Given the description of an element on the screen output the (x, y) to click on. 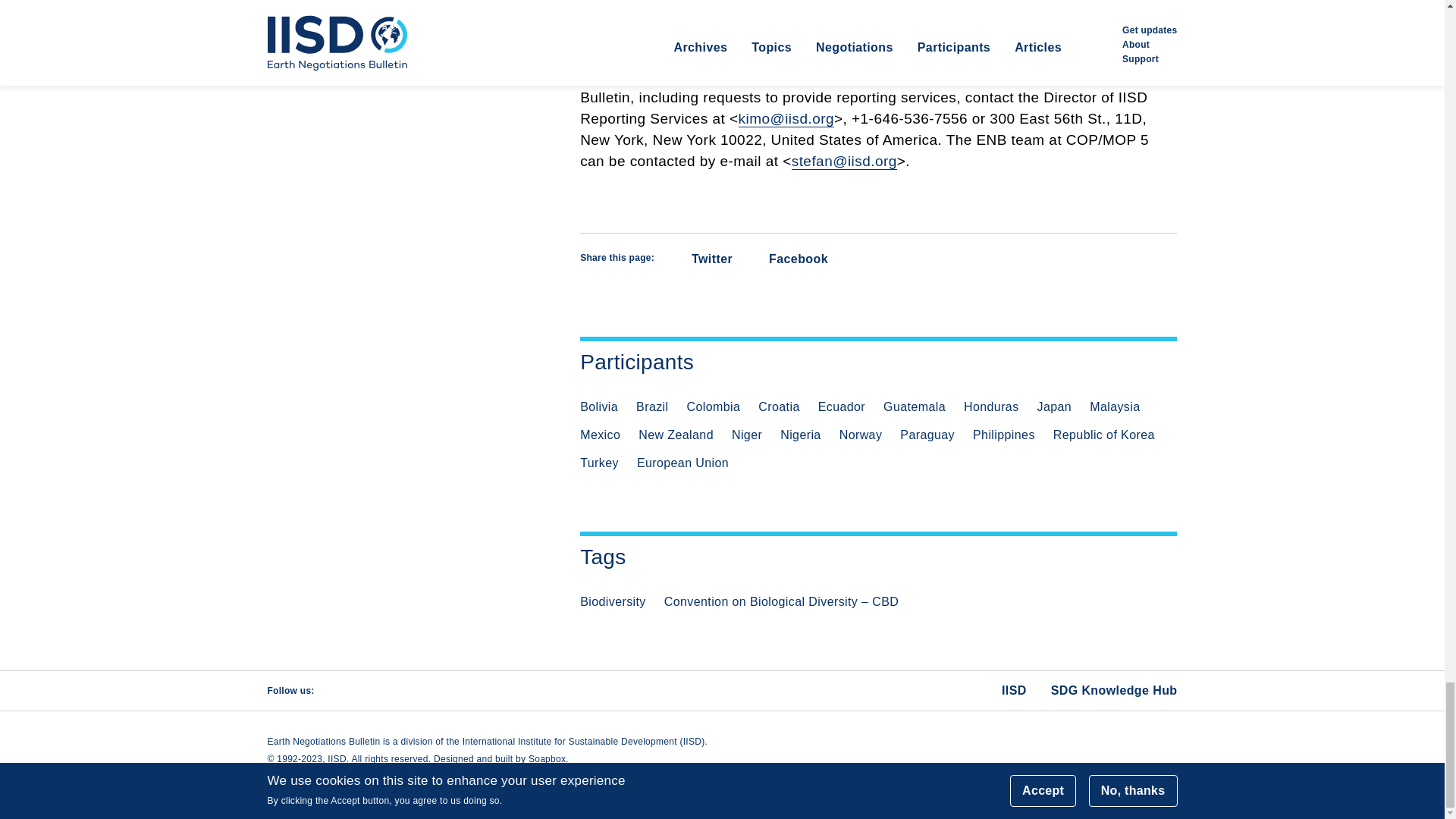
Twitter (699, 258)
Share via Twitter (699, 258)
Follow us on Facebook (371, 690)
Share via Facebook (788, 258)
Follow us on Twitter (339, 690)
